Given the description of an element on the screen output the (x, y) to click on. 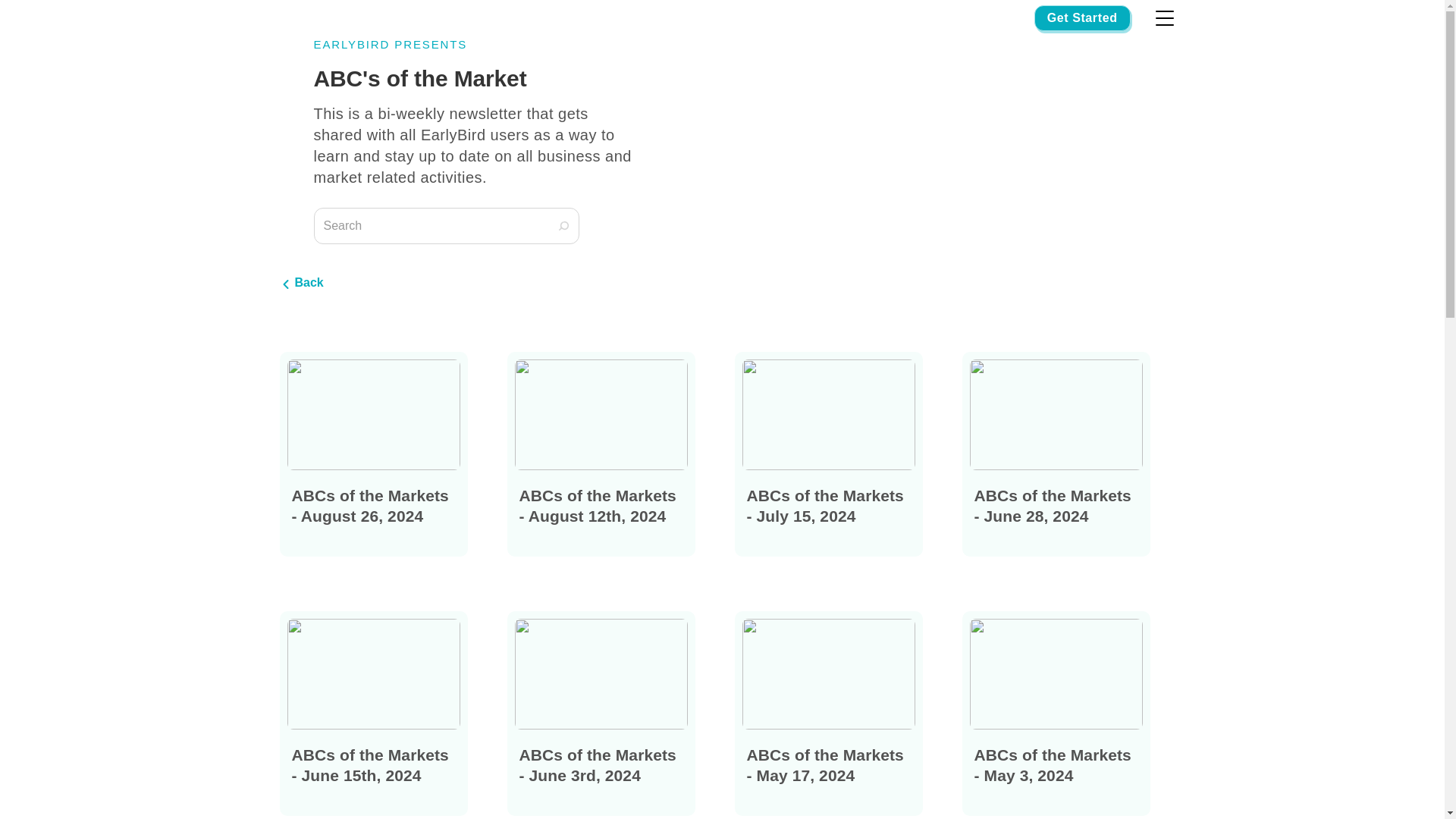
ABCs of the Markets - July 15, 2024 (827, 454)
ABCs of the Markets - August 26, 2024 (373, 454)
Get Started (1082, 17)
Back (301, 282)
ABCs of the Markets - August 12th, 2024 (600, 454)
ABCs of the Markets - May 3, 2024 (1055, 712)
ABCs of the Markets - May 17, 2024 (827, 712)
ABCs of the Markets - June 3rd, 2024 (600, 712)
ABCs of the Markets - June 28, 2024 (1055, 454)
ABCs of the Markets - June 15th, 2024 (373, 712)
